Given the description of an element on the screen output the (x, y) to click on. 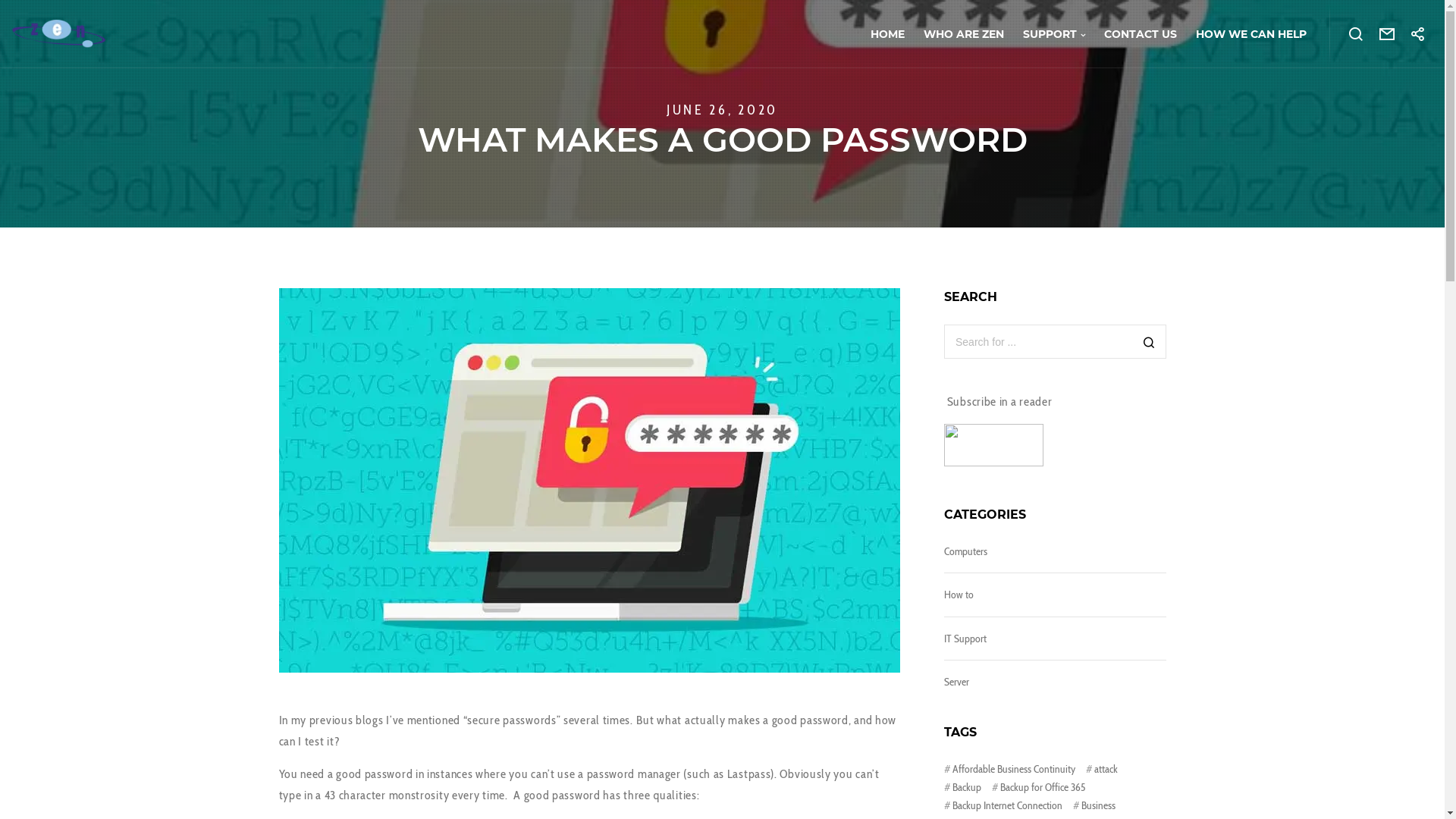
Zen IT Support Element type: hover (993, 462)
Subscribe in a reader Element type: text (999, 401)
SUPPORT Element type: text (1044, 34)
HOME Element type: text (877, 34)
How to Element type: text (958, 594)
Business Element type: text (1094, 805)
Backup for Office 365 Element type: text (1038, 787)
CONTACT US Element type: text (1130, 34)
Backup Element type: text (962, 787)
Computers Element type: text (965, 551)
Affordable Business Continuity Element type: text (1009, 768)
attack Element type: text (1101, 768)
IT Support Element type: text (965, 638)
HOW WE CAN HELP Element type: text (1241, 34)
Server Element type: text (956, 681)
Backup Internet Connection Element type: text (1003, 805)
WHO ARE ZEN Element type: text (954, 34)
